Given the description of an element on the screen output the (x, y) to click on. 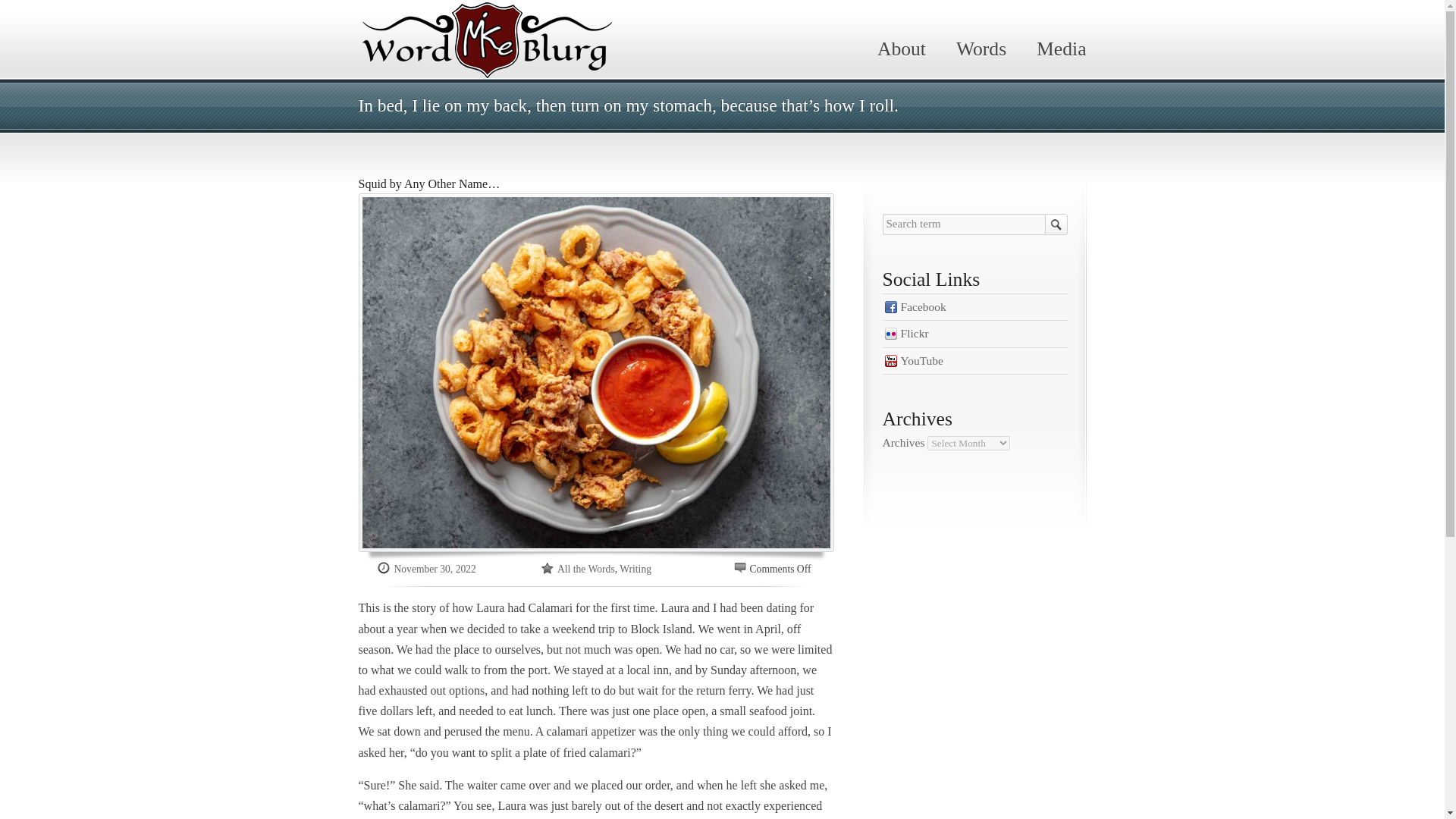
Flickr (974, 333)
November 30, 2022 (435, 568)
YouTube (974, 360)
Search (1056, 224)
YouTube (974, 360)
Facebook (974, 307)
Writing (635, 568)
Flickr (974, 333)
All the Words (585, 568)
Facebook (974, 307)
Wordblurg (487, 39)
Search (1056, 224)
